Given the description of an element on the screen output the (x, y) to click on. 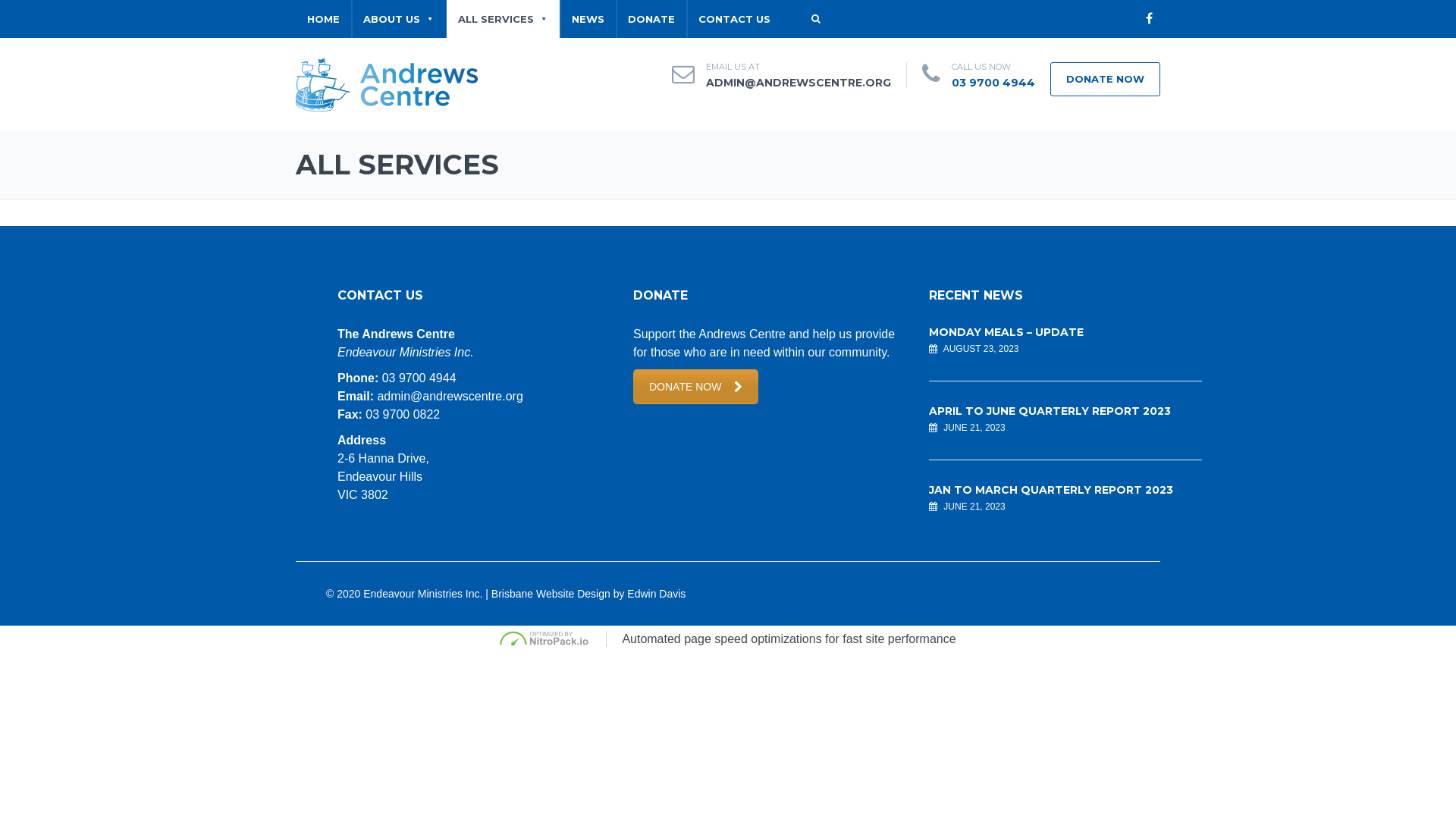
ADMIN@ANDREWSCENTRE.ORG Element type: text (798, 82)
CONTACT US Element type: text (734, 18)
JAN TO MARCH QUARTERLY REPORT 2023 Element type: text (1050, 489)
The Andrews Centre Element type: hover (386, 83)
NEWS Element type: text (587, 18)
Brisbane Website Design by Edwin Davis Element type: text (588, 593)
DONATE Element type: text (651, 18)
APRIL TO JUNE QUARTERLY REPORT 2023 Element type: text (1049, 410)
HOME Element type: text (323, 18)
facebook Element type: hover (1148, 18)
DONATE NOW Element type: text (1105, 79)
ABOUT US Element type: text (398, 18)
DONATE NOW Element type: text (695, 386)
ALL SERVICES Element type: text (502, 18)
03 9700 4944 Element type: text (993, 82)
